Given the description of an element on the screen output the (x, y) to click on. 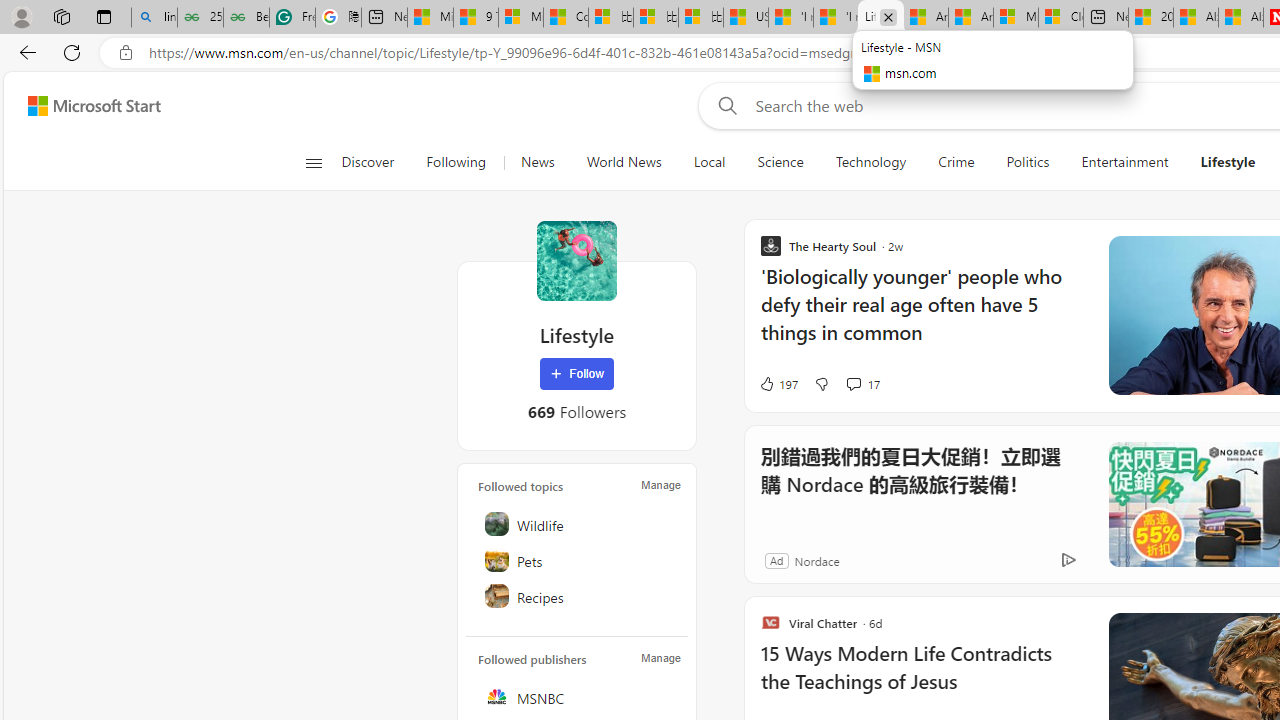
Web search (724, 105)
MSNBC (578, 696)
20 Ways to Boost Your Protein Intake at Every Meal (1150, 17)
Technology (870, 162)
Best SSL Certificates Provider in India - GeeksforGeeks (246, 17)
View comments 17 Comment (862, 384)
Entertainment (1124, 162)
15 Ways Modern Life Contradicts the Teachings of Jesus (922, 678)
Ad Choice (1068, 560)
Nordace (816, 560)
Microsoft Services Agreement (1016, 17)
Lifestyle (576, 260)
linux basic - Search (153, 17)
